Given the description of an element on the screen output the (x, y) to click on. 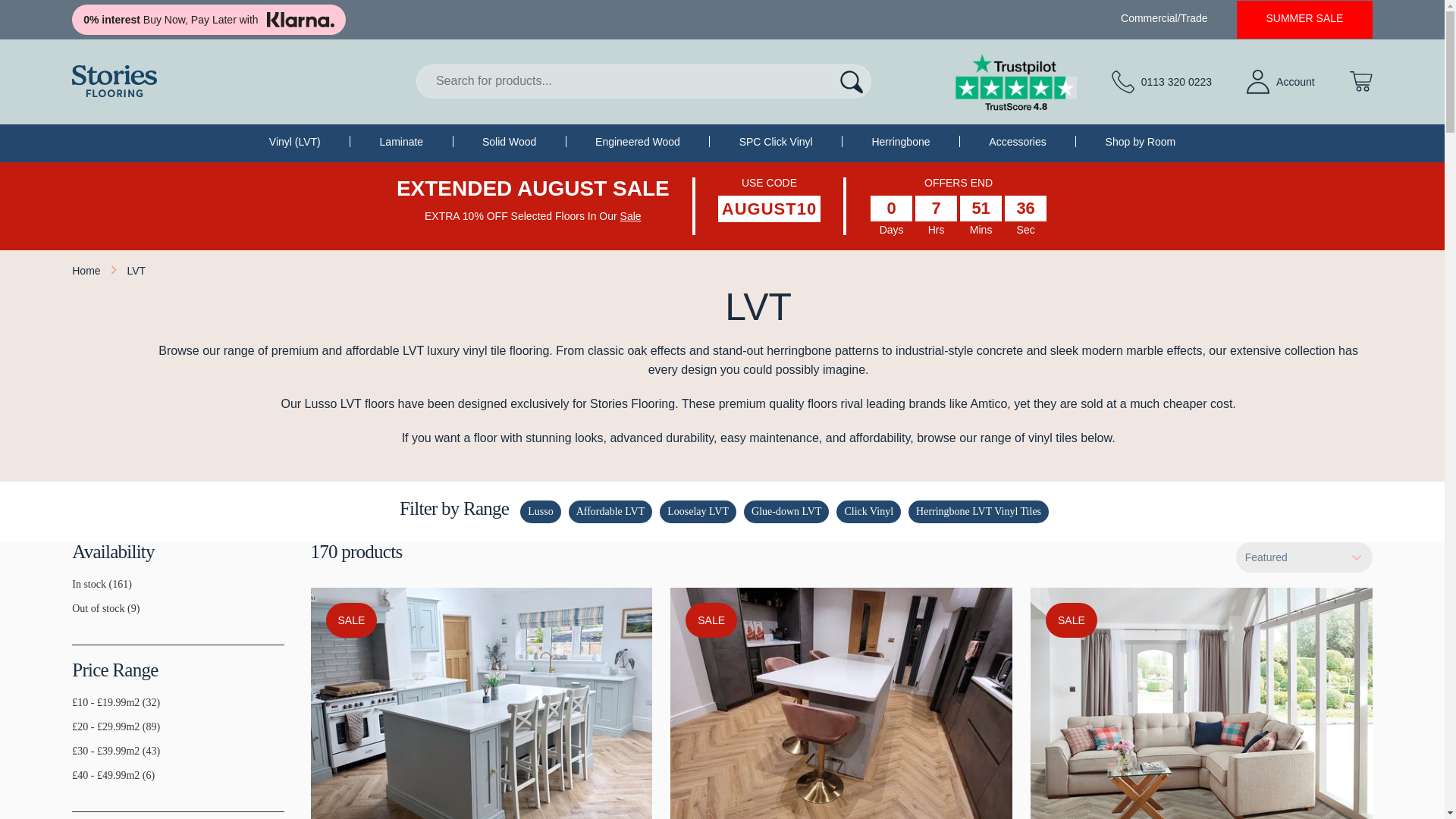
Klarna finance options (207, 19)
View basket (1361, 81)
0113 320 0223 (1161, 81)
SUMMER SALE (1303, 18)
Call us (1161, 81)
1 (77, 590)
Account (1280, 81)
Stories Flooring (114, 81)
My account (1280, 81)
Laminate (401, 141)
